Given the description of an element on the screen output the (x, y) to click on. 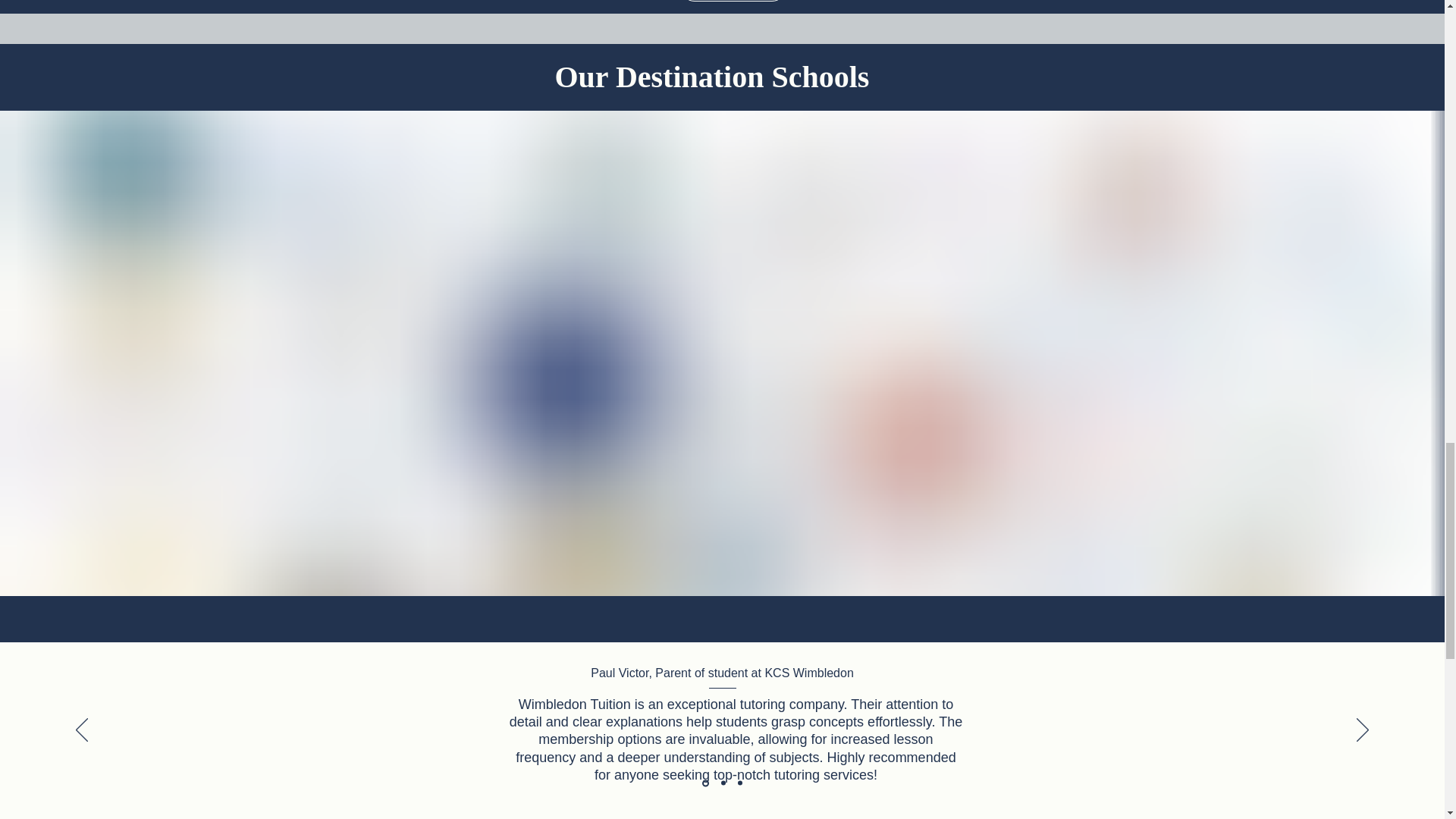
Find Out More (733, 0)
